Given the description of an element on the screen output the (x, y) to click on. 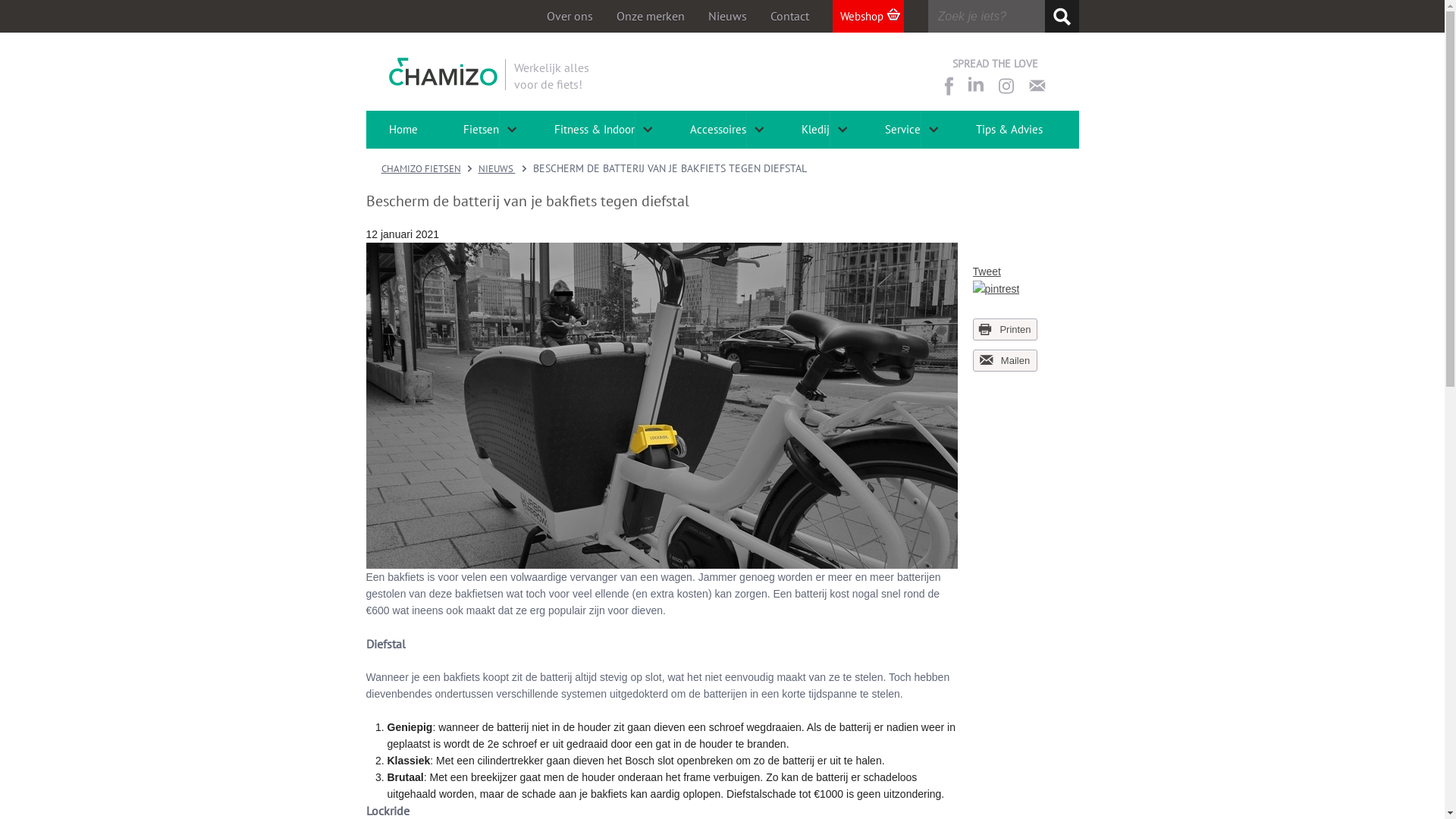
Mailen Element type: text (1004, 360)
Onze merken Element type: text (649, 16)
Home Element type: text (402, 129)
Service Element type: text (901, 129)
Tweet Element type: text (986, 271)
Contact Element type: text (789, 16)
Kledij Element type: text (814, 129)
Webshop Element type: text (867, 16)
Tips & Advies Element type: text (1008, 129)
Printen Element type: text (1004, 329)
Fitness & Indoor Element type: text (593, 129)
Accessoires Element type: text (717, 129)
Fietsen Element type: text (479, 129)
Over ons Element type: text (569, 16)
NIEUWS Element type: text (495, 168)
Nieuws Element type: text (727, 16)
CHAMIZO FIETSEN Element type: text (420, 168)
Share on Facebook Element type: text (947, 85)
SHARE.EMAIL Element type: text (1036, 85)
ZOEKEN Element type: text (1061, 16)
